Given the description of an element on the screen output the (x, y) to click on. 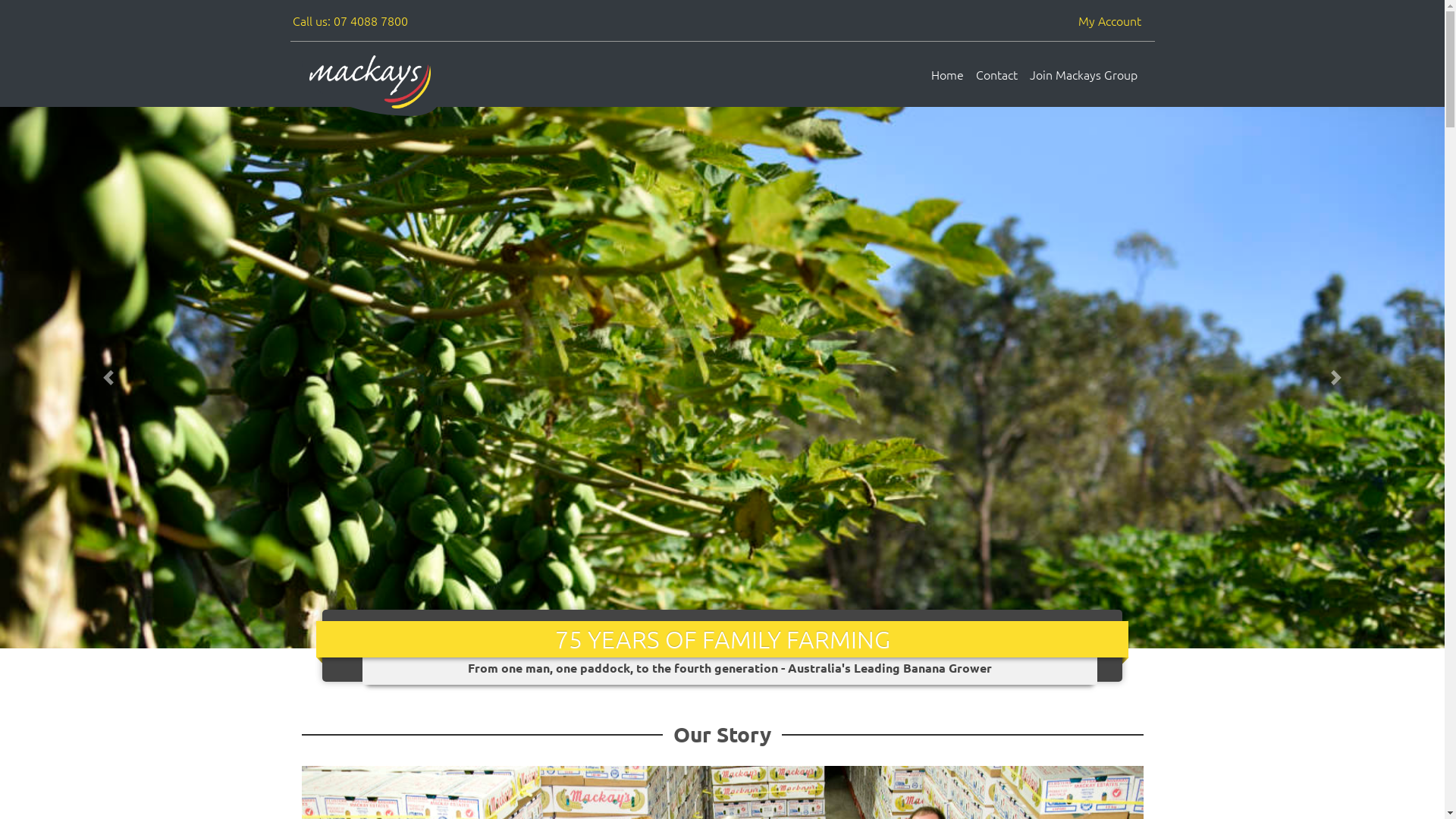
Join Mackays Group Element type: text (1083, 74)
Home Element type: text (947, 74)
Next Element type: text (1335, 377)
Previous Element type: text (108, 377)
Mackays Home Element type: hover (369, 81)
My Account Element type: text (1109, 20)
Contact Element type: text (995, 74)
Call us: 07 4088 7800 Element type: text (350, 20)
